Given the description of an element on the screen output the (x, y) to click on. 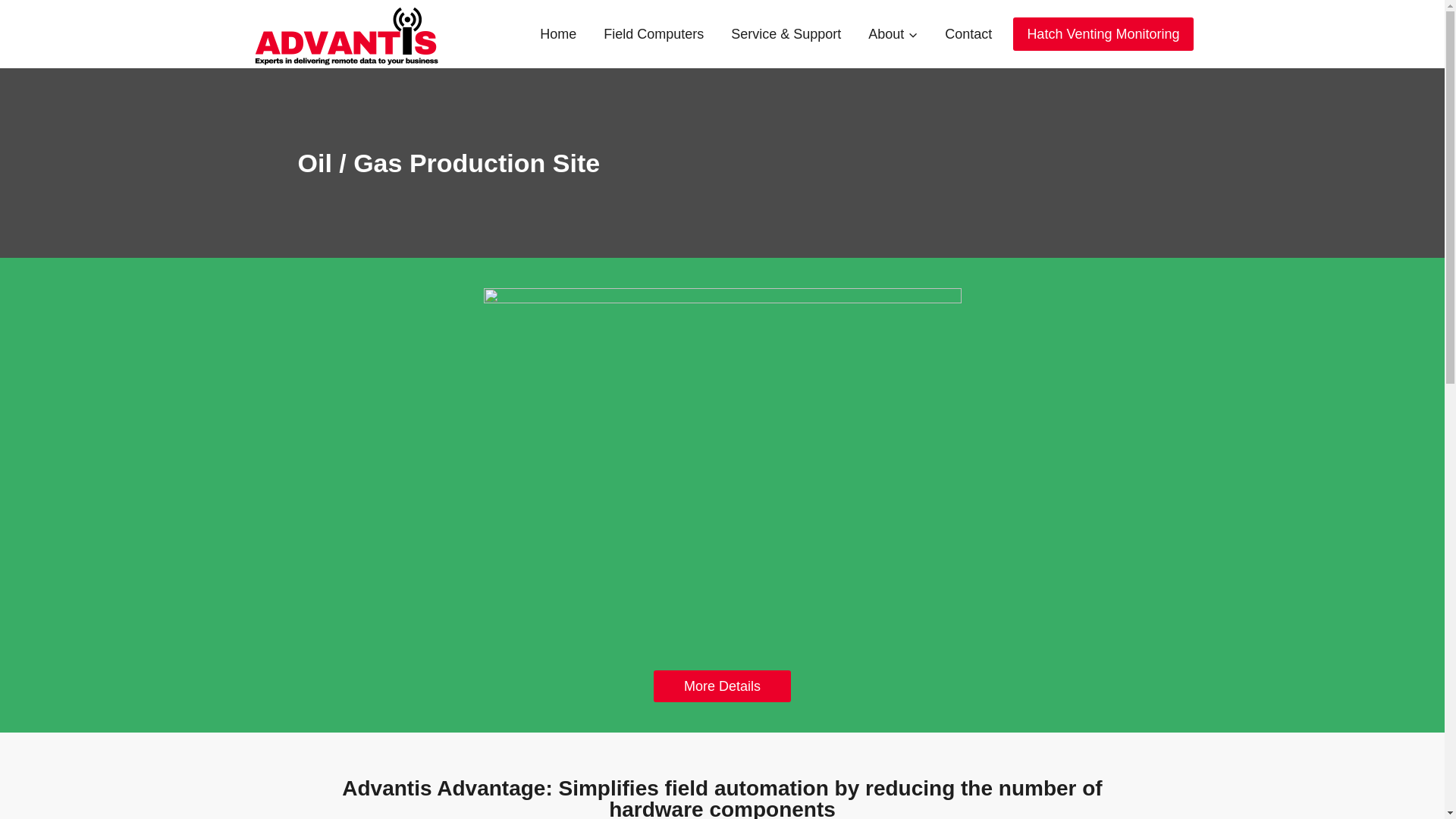
More Details (721, 685)
Field Computers (653, 34)
About (892, 34)
Contact (968, 34)
Home (557, 34)
Hatch Venting Monitoring (1102, 33)
